Given the description of an element on the screen output the (x, y) to click on. 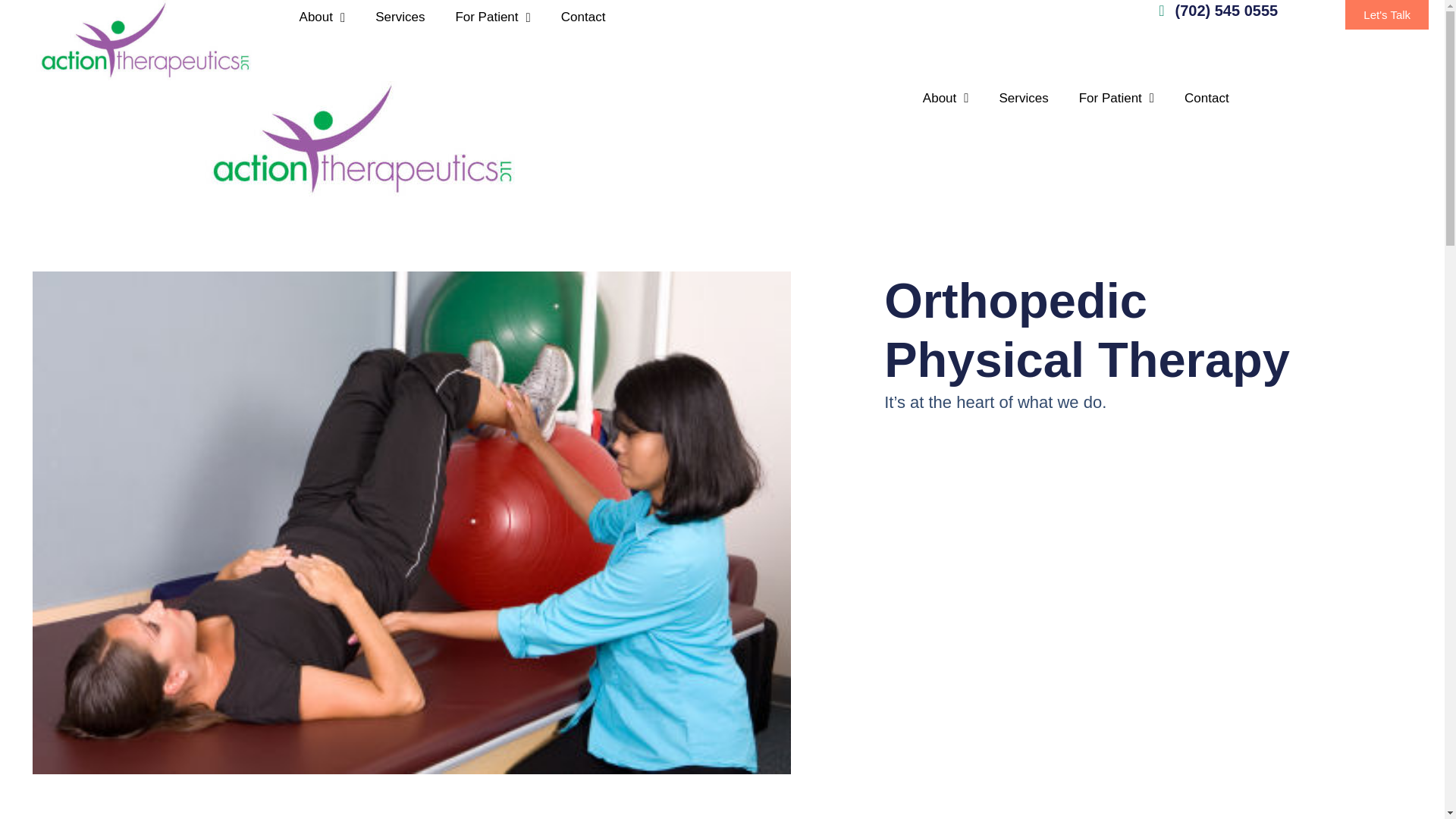
For Patient (491, 17)
Services (1024, 98)
Services (399, 17)
About (322, 17)
Contact (1206, 98)
For Patient (1116, 98)
Let's Talk (1386, 14)
About (945, 98)
Contact (583, 17)
